Given the description of an element on the screen output the (x, y) to click on. 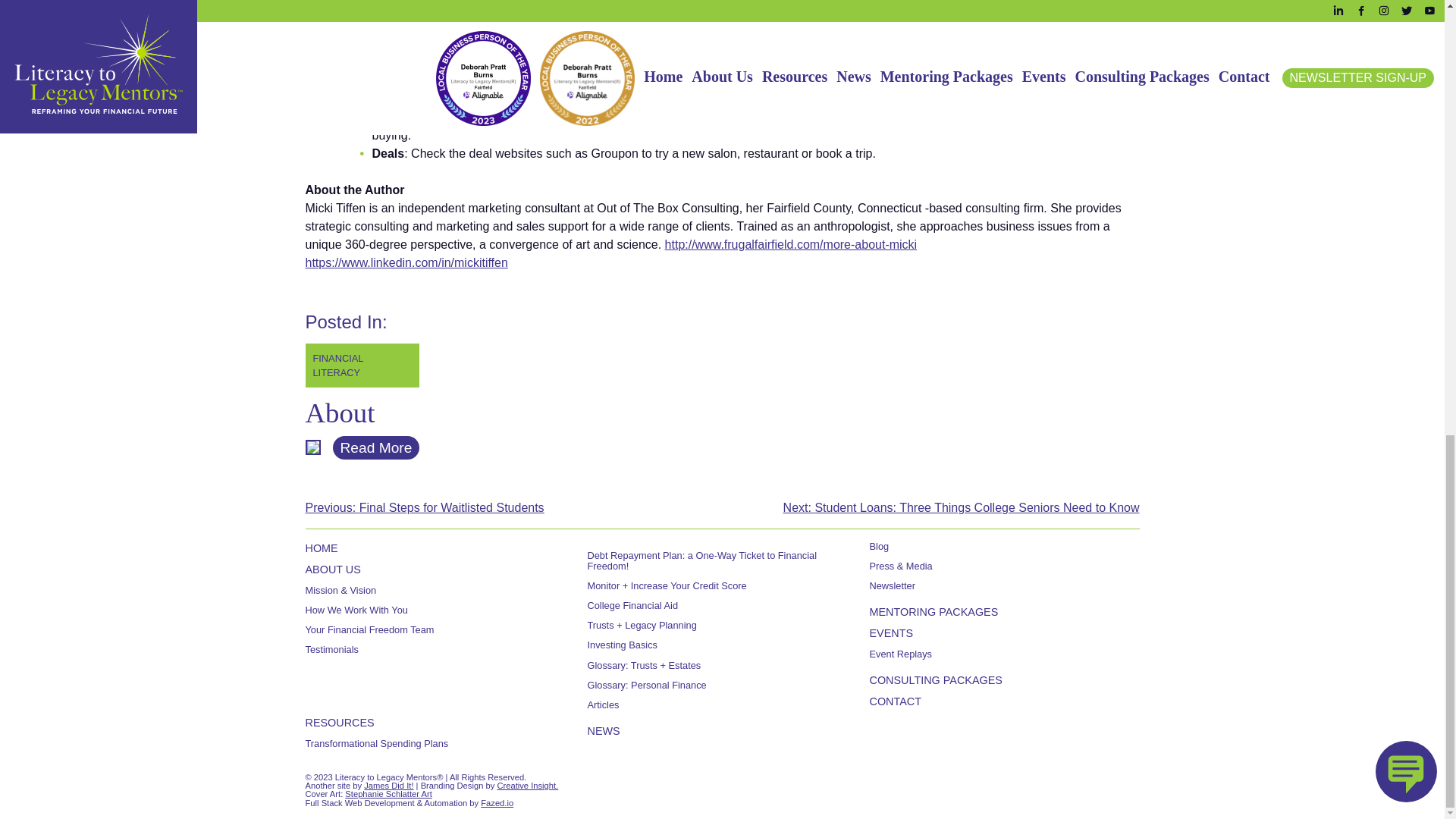
Branding and Design by Creative Insight (526, 785)
Financial Literacy (361, 365)
